Given the description of an element on the screen output the (x, y) to click on. 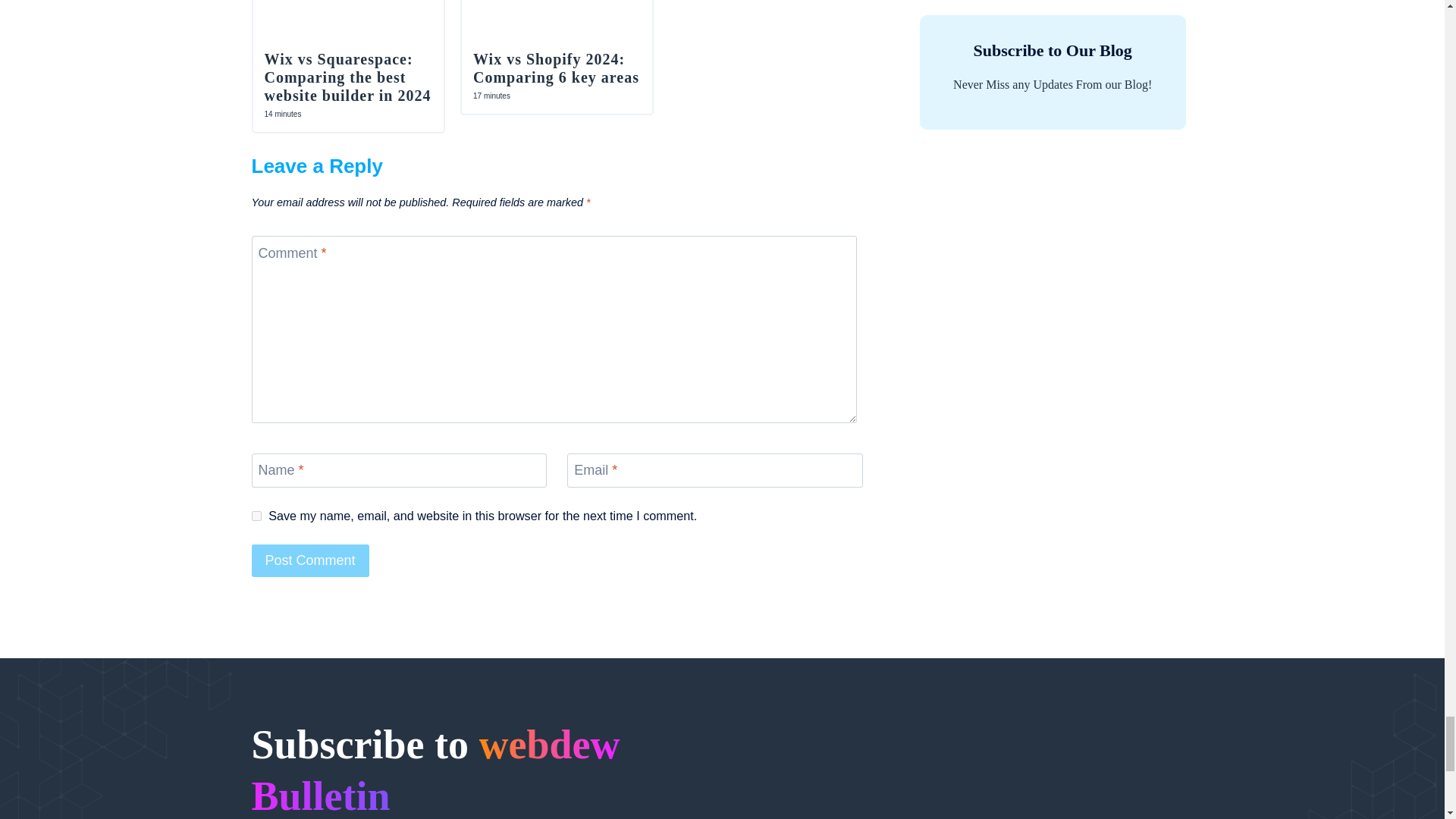
yes (256, 515)
Post Comment (310, 560)
